Given the description of an element on the screen output the (x, y) to click on. 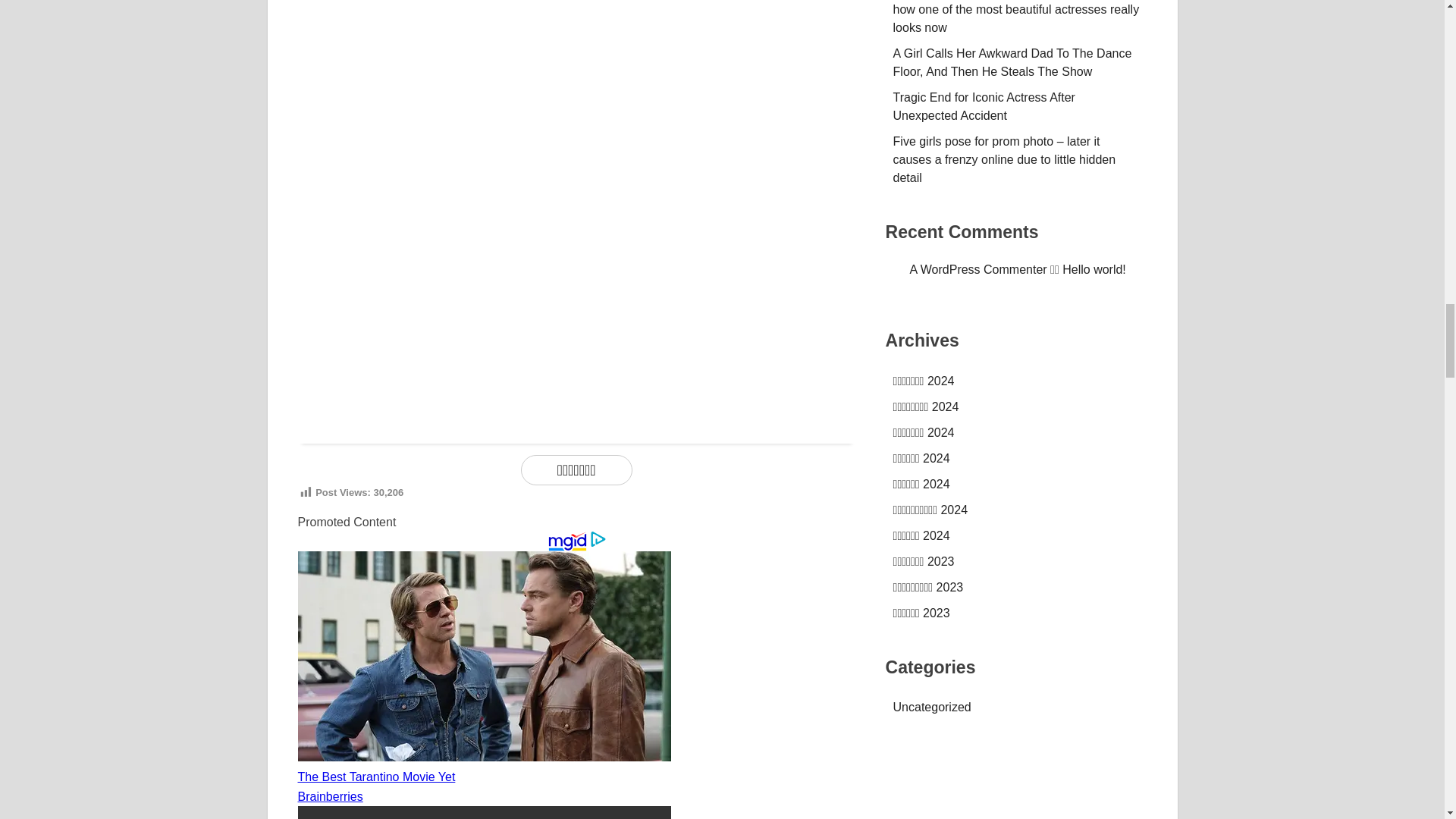
A WordPress Commenter (978, 269)
Tragic End for Iconic Actress After Unexpected Accident (984, 106)
Hello world! (1093, 269)
